Given the description of an element on the screen output the (x, y) to click on. 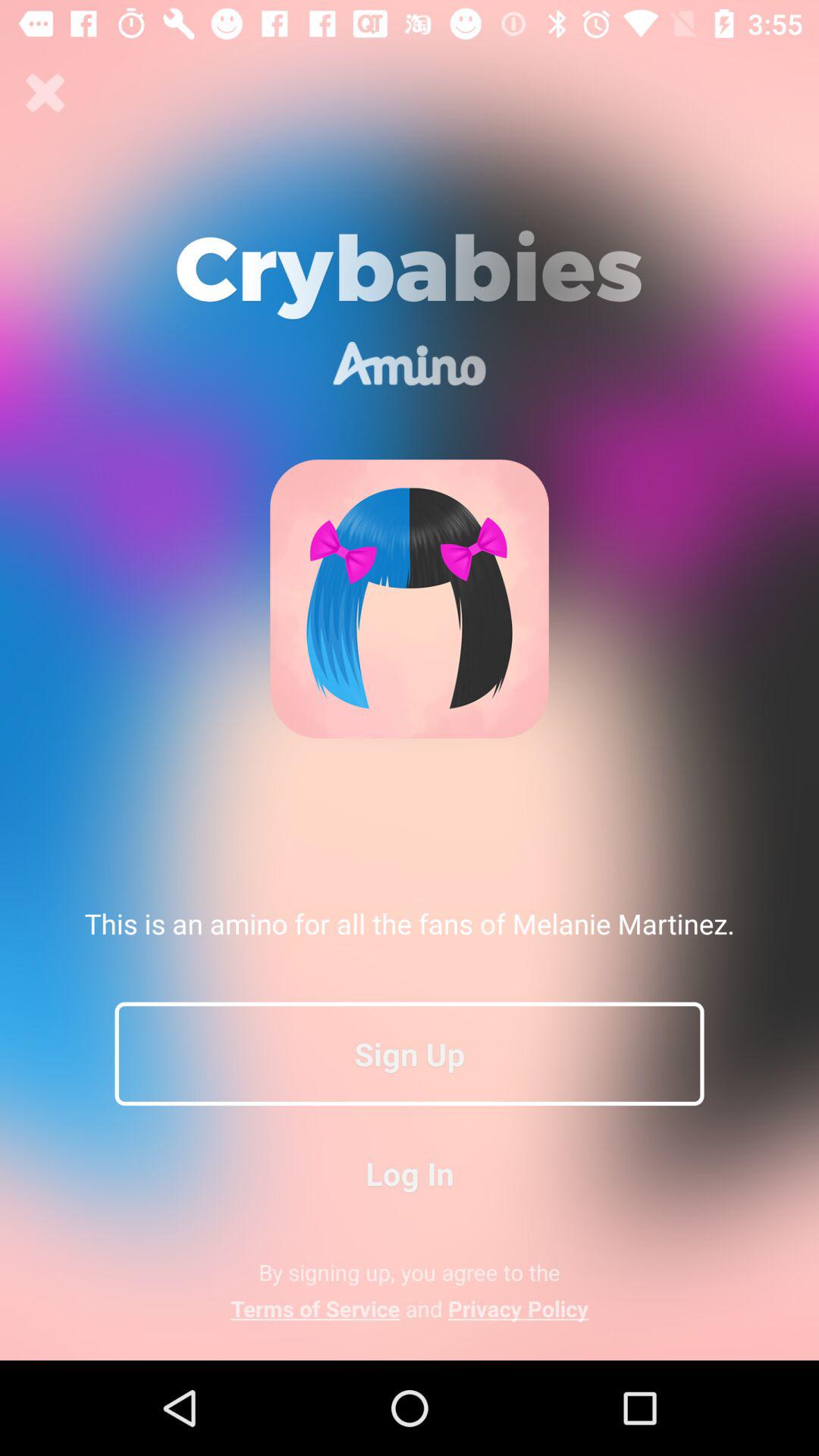
select button above the log in (409, 1053)
